Given the description of an element on the screen output the (x, y) to click on. 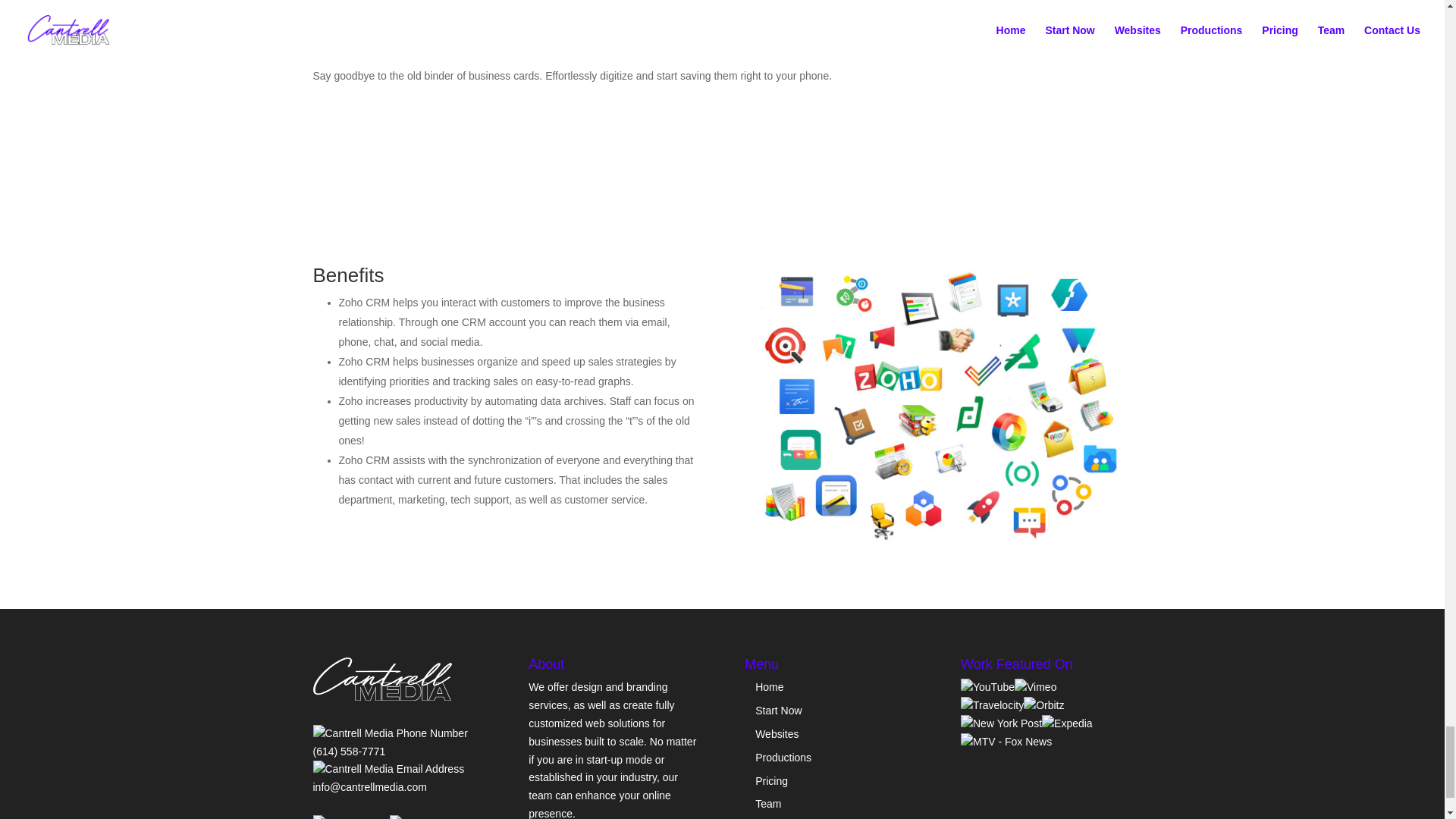
Team (767, 803)
Productions (782, 757)
Websites (776, 734)
Pricing (771, 780)
Start Now (778, 710)
Home (769, 686)
